Given the description of an element on the screen output the (x, y) to click on. 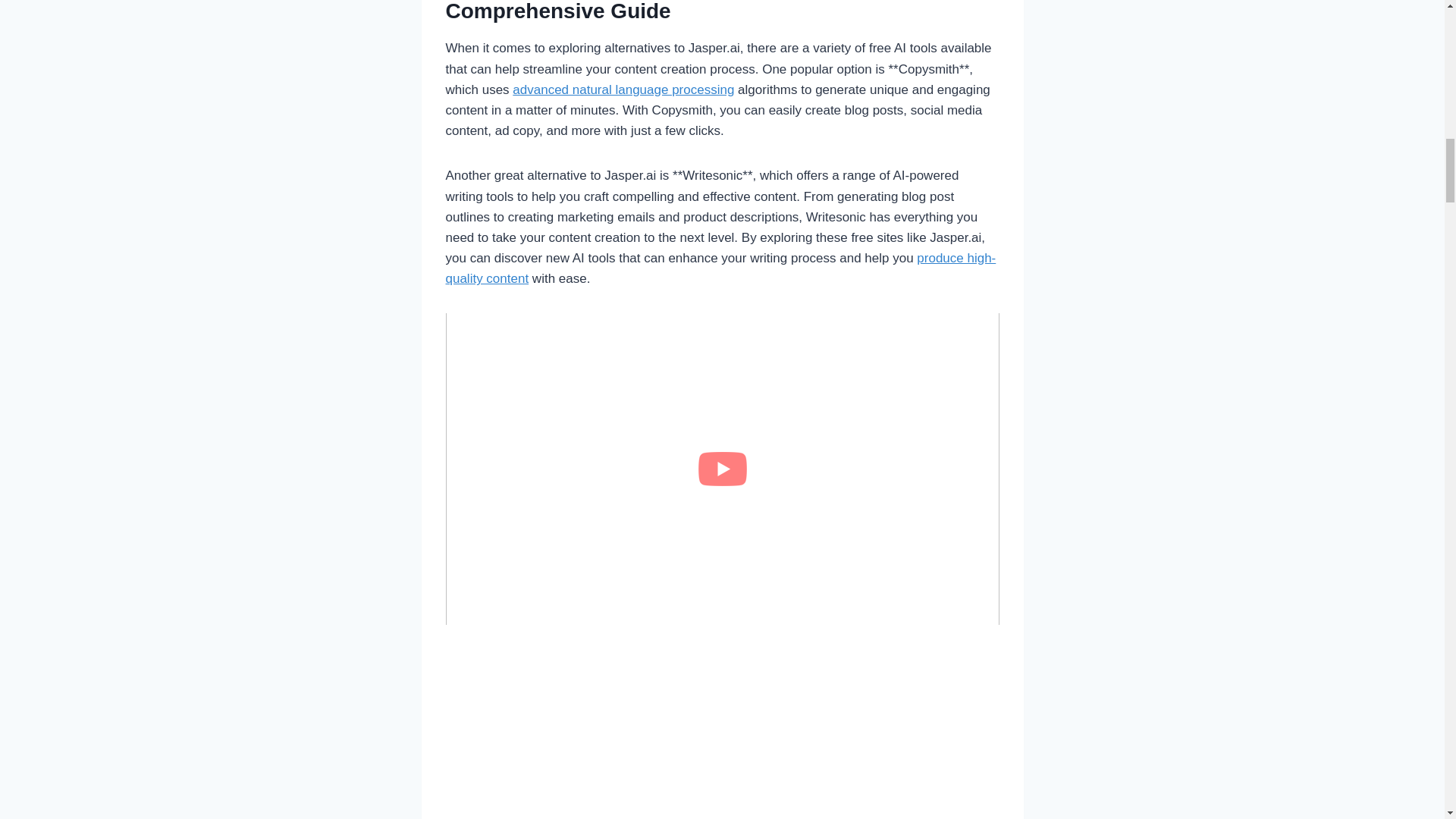
produce high-quality content (720, 267)
ChatGPT for SEO: Expert's Guide to AI-Powered SEO (622, 89)
advanced natural language processing (622, 89)
